Given the description of an element on the screen output the (x, y) to click on. 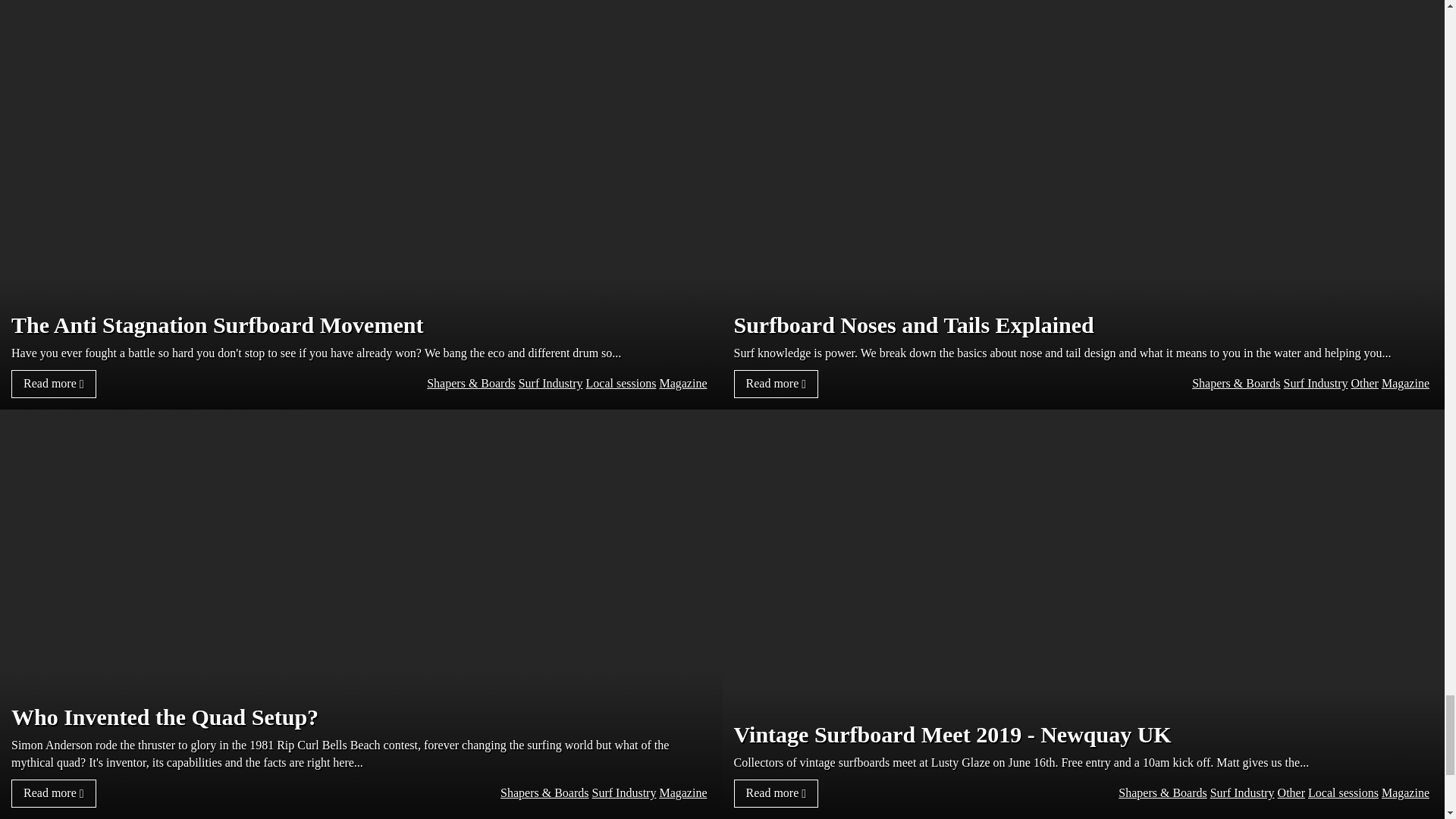
Local sessions (621, 382)
The Anti Stagnation Surfboard Movement (361, 324)
Read more (53, 384)
Magazine (682, 382)
Surf Industry (550, 382)
